Given the description of an element on the screen output the (x, y) to click on. 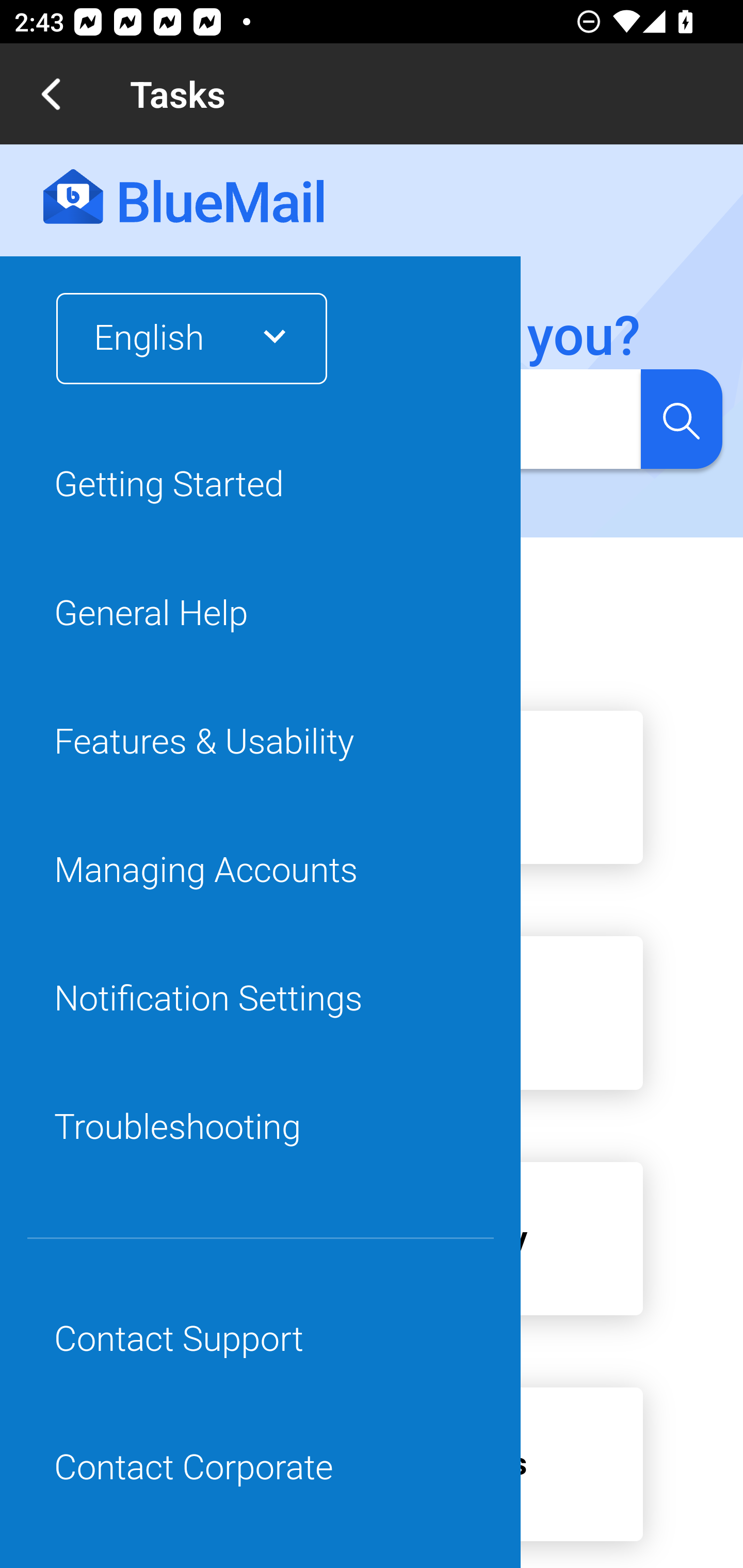
Navigate up (50, 93)
BlueMail Logo (184, 197)
English (178, 338)
Getting Started (260, 485)
General Help (260, 613)
Features & Usability (260, 741)
Managing Accounts (260, 870)
Notification Settings (260, 998)
Troubleshooting (260, 1128)
Contact Support (260, 1340)
Contact Corporate (260, 1468)
